Given the description of an element on the screen output the (x, y) to click on. 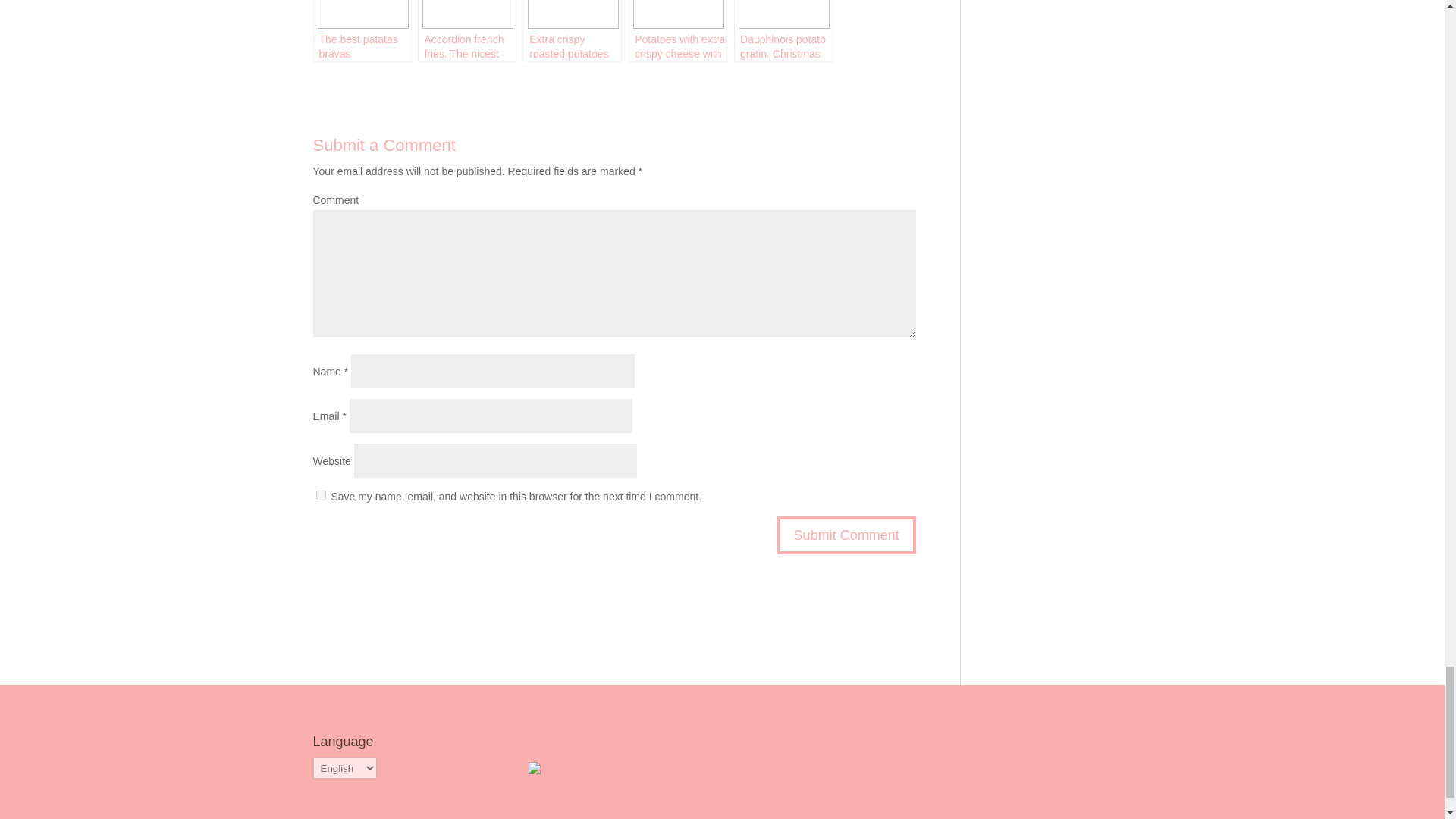
Extra crispy roasted potatoes (571, 31)
Dauphinois potato gratin. Christmas potatoes at Oleta (782, 31)
The best patatas bravas (361, 31)
yes (319, 495)
Submit Comment (846, 534)
